Given the description of an element on the screen output the (x, y) to click on. 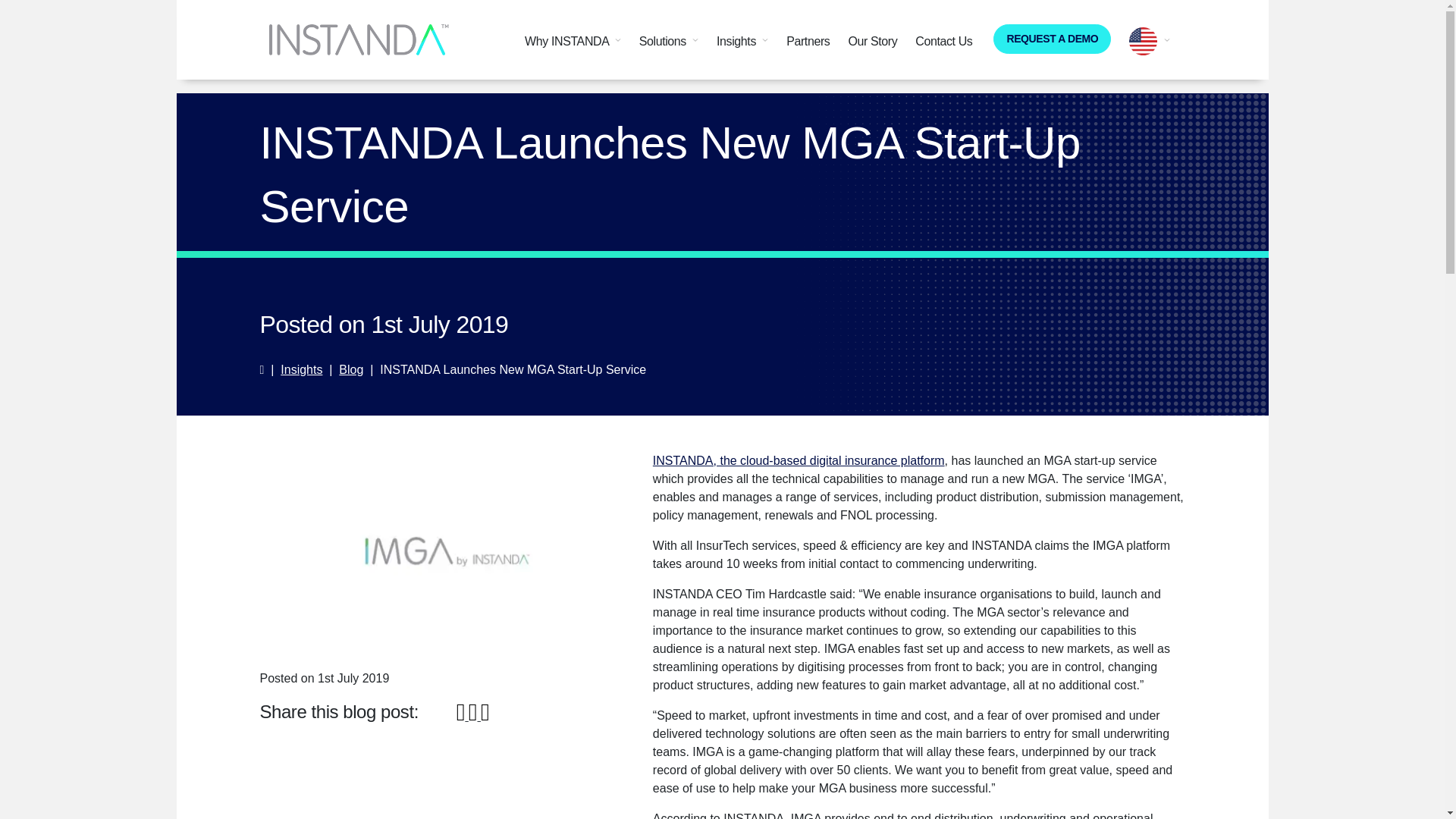
Our Story (871, 40)
Twitter (474, 716)
Insights (301, 369)
Partners (807, 40)
Insights (742, 40)
REQUEST A DEMO (1051, 39)
Why INSTANDA (572, 40)
Contact Us (943, 40)
Blog (350, 369)
